Given the description of an element on the screen output the (x, y) to click on. 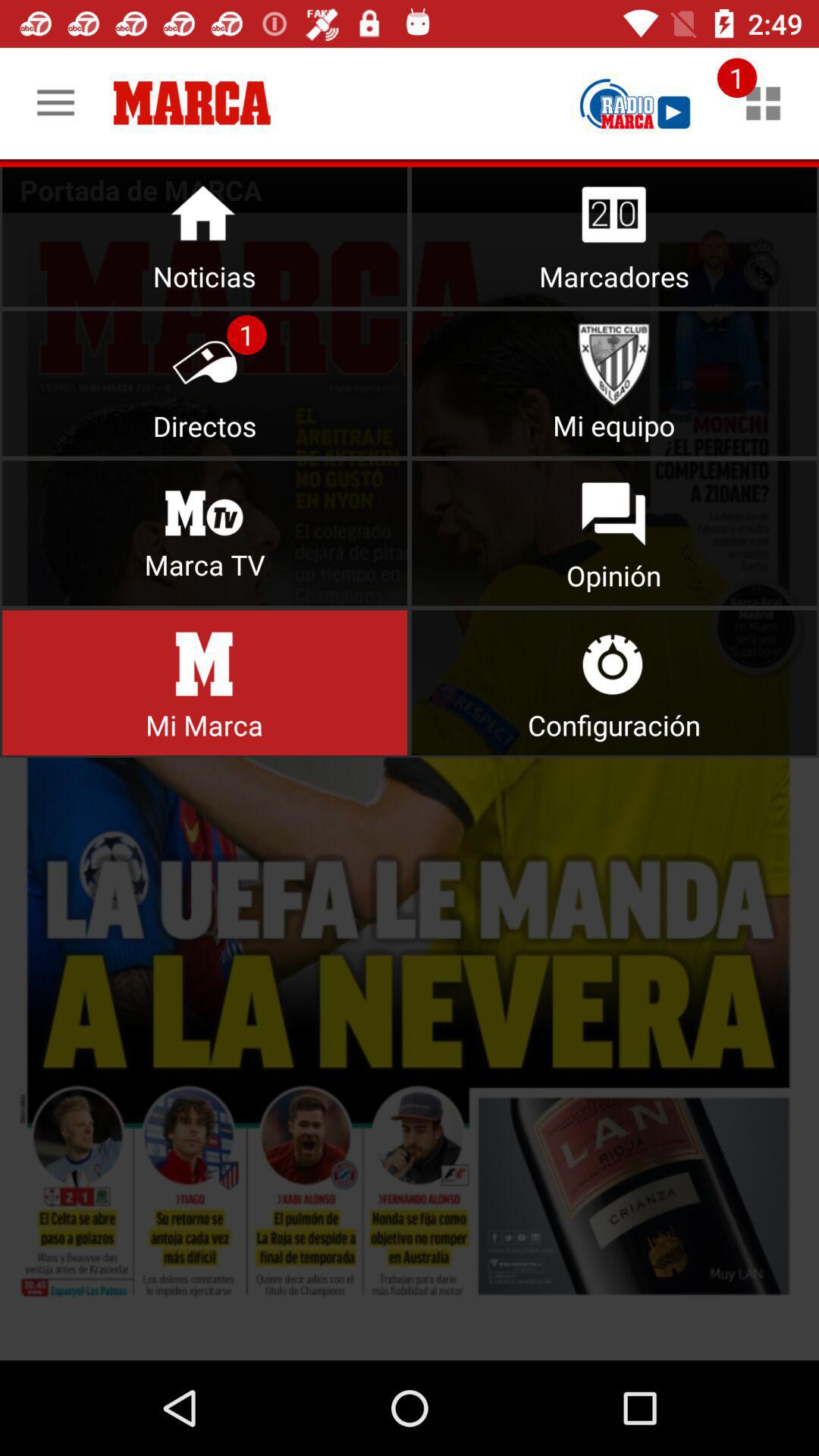
button link (204, 682)
